Given the description of an element on the screen output the (x, y) to click on. 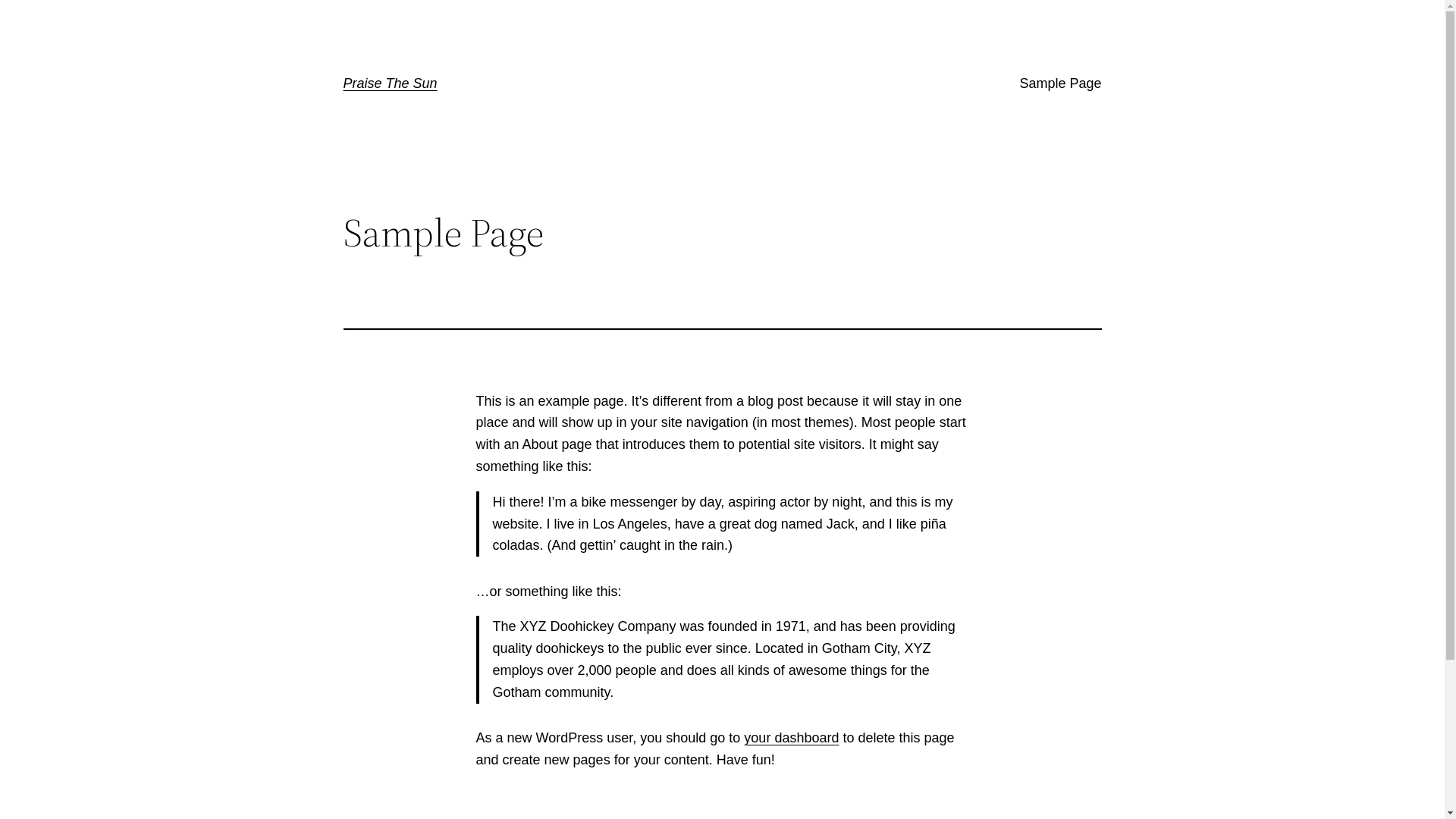
Praise The Sun Element type: text (389, 83)
Sample Page Element type: text (1060, 83)
your dashboard Element type: text (790, 737)
